Given the description of an element on the screen output the (x, y) to click on. 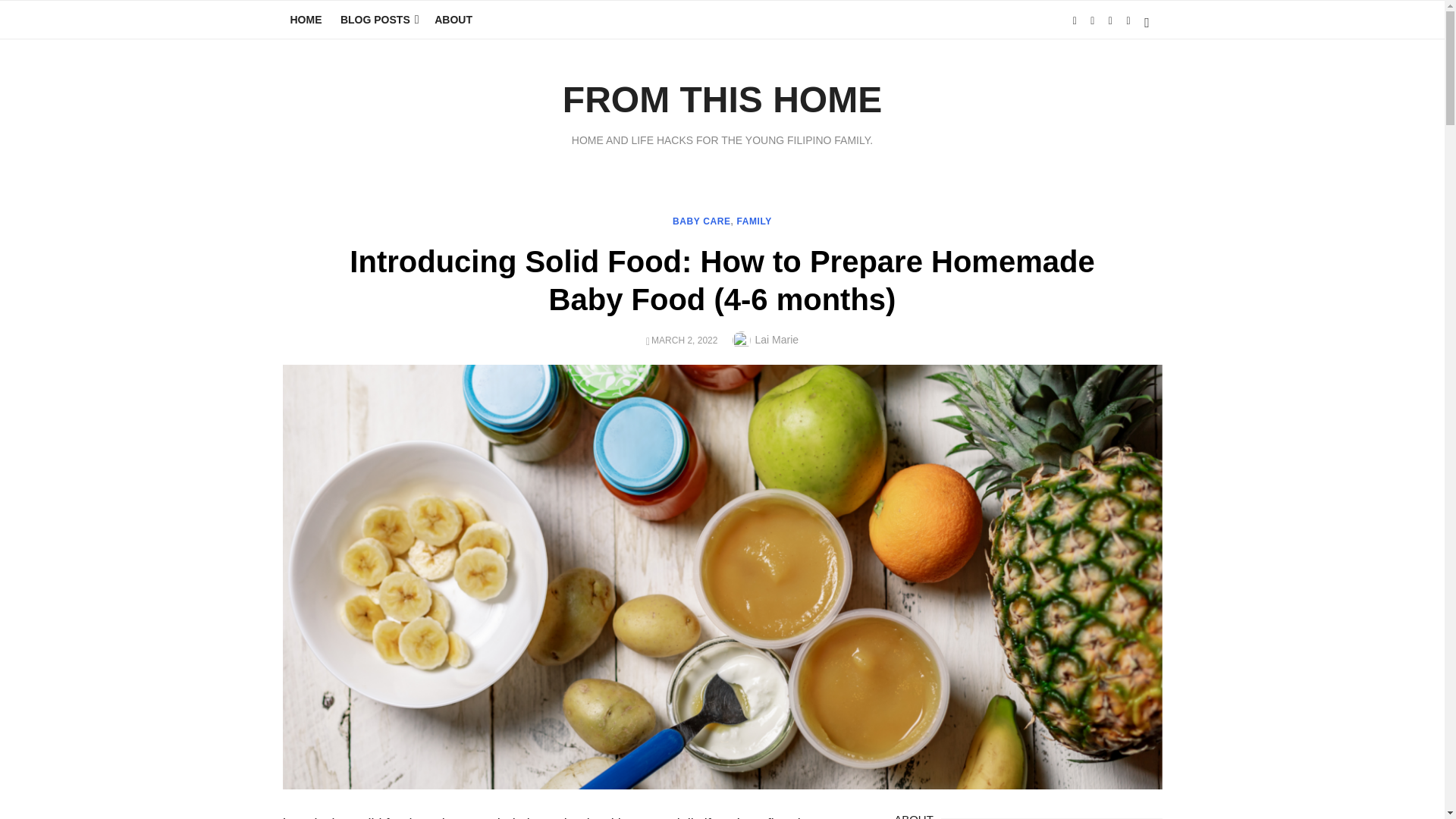
BLOG POSTS (378, 19)
ABOUT (453, 19)
HOME (305, 19)
FROM THIS HOME (722, 99)
